Given the description of an element on the screen output the (x, y) to click on. 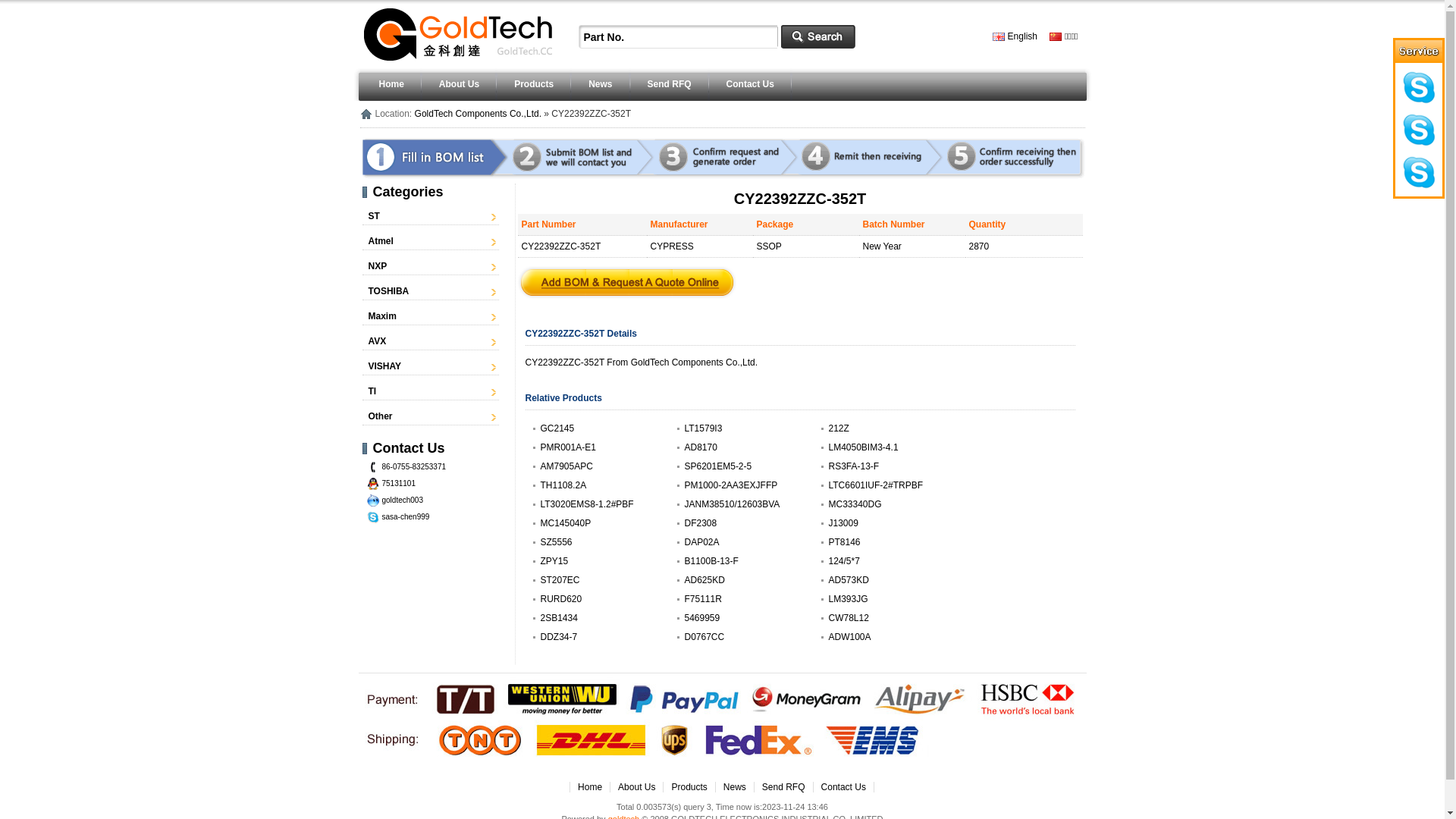
MC33340DG Element type: text (854, 503)
ST Element type: text (373, 215)
GC2145 Element type: text (556, 428)
212Z Element type: text (838, 428)
LM393JG Element type: text (847, 598)
JANM38510/12603BVA Element type: text (731, 503)
B1100B-13-F Element type: text (710, 560)
AD8170 Element type: text (700, 447)
ADW100A Element type: text (849, 636)
About Us Element type: text (636, 786)
ST207EC Element type: text (559, 579)
NXP Element type: text (377, 265)
F75111R Element type: text (702, 598)
RURD620 Element type: text (560, 598)
2SB1434 Element type: text (558, 617)
LTC6601IUF-2#TRPBF Element type: text (875, 485)
CW78L12 Element type: text (848, 617)
About Us Element type: text (458, 84)
DDZ34-7 Element type: text (558, 636)
PM1000-2AA3EXJFFP Element type: text (730, 485)
Home Element type: text (391, 84)
AD625KD Element type: text (704, 579)
Send RFQ Element type: text (669, 84)
LM4050BIM3-4.1 Element type: text (862, 447)
LT1579I3 Element type: text (702, 428)
DF2308 Element type: text (700, 522)
Products Element type: text (688, 786)
124/5*7 Element type: text (843, 560)
J13009 Element type: text (842, 522)
Contact Us Element type: text (749, 84)
GoldTech Components Co.,Ltd. Element type: text (477, 113)
Send RFQ Element type: text (783, 786)
PMR001A-E1 Element type: text (567, 447)
AM7905APC Element type: text (565, 466)
PT8146 Element type: text (843, 541)
DAP02A Element type: text (701, 541)
News Element type: text (599, 84)
sasa-chen999 Element type: text (405, 516)
TI Element type: text (372, 390)
SZ5556 Element type: text (555, 541)
News Element type: text (734, 786)
Contact Us Element type: text (843, 786)
Maxim Element type: text (382, 315)
SP6201EM5-2-5 Element type: text (717, 466)
Other Element type: text (380, 416)
RS3FA-13-F Element type: text (853, 466)
AVX Element type: text (377, 340)
Home Element type: text (589, 786)
English Element type: text (1014, 36)
goldtech003 Element type: text (402, 499)
MC145040P Element type: text (564, 522)
Atmel Element type: text (380, 240)
75131101 Element type: text (399, 483)
5469959 Element type: text (701, 617)
AD573KD Element type: text (848, 579)
TOSHIBA Element type: text (388, 290)
LT3020EMS8-1.2#PBF Element type: text (586, 503)
TH1108.2A Element type: text (562, 485)
D0767CC Element type: text (704, 636)
ZPY15 Element type: text (553, 560)
VISHAY Element type: text (384, 365)
Products Element type: text (533, 84)
